Given the description of an element on the screen output the (x, y) to click on. 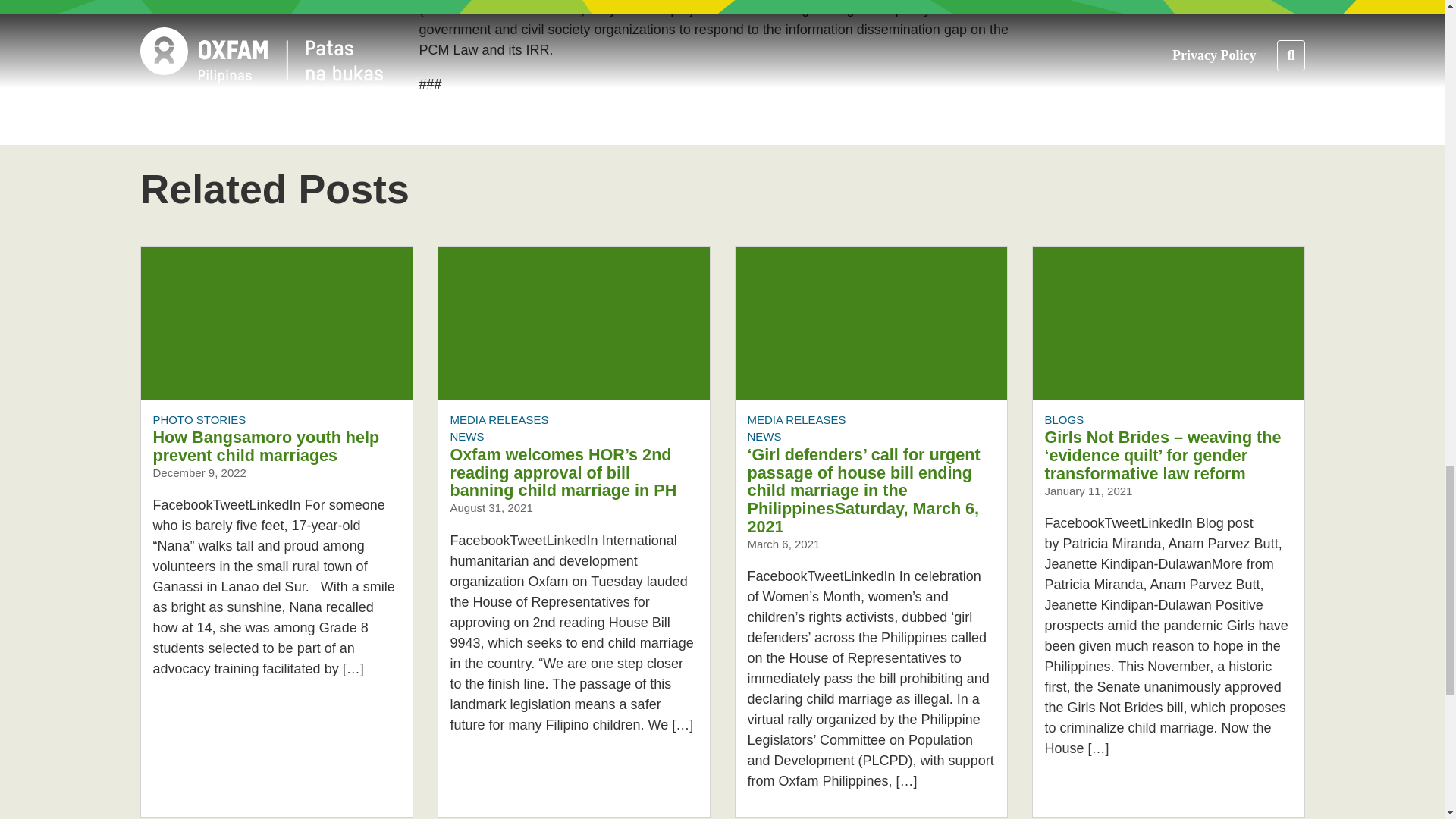
MEDIA RELEASES (796, 419)
NEWS (466, 436)
How Bangsamoro youth help prevent child marriages (276, 323)
How Bangsamoro youth help prevent child marriages (266, 446)
PHOTO STORIES (199, 419)
NEWS (764, 436)
BLOGS (1064, 419)
MEDIA RELEASES (498, 419)
